Given the description of an element on the screen output the (x, y) to click on. 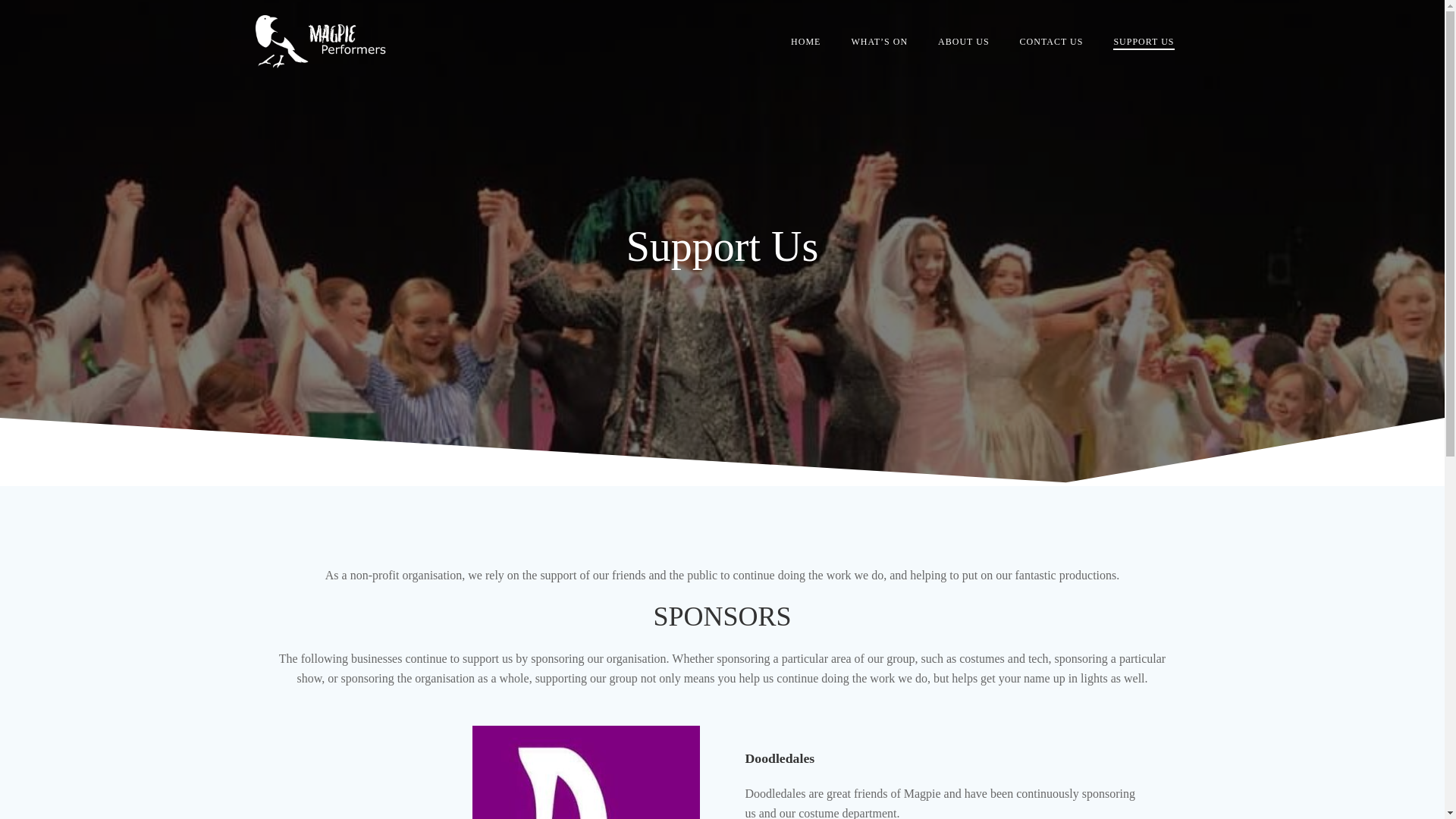
CONTACT US (1051, 41)
HOME (805, 41)
SUPPORT US (1143, 41)
ABOUT US (962, 41)
